Given the description of an element on the screen output the (x, y) to click on. 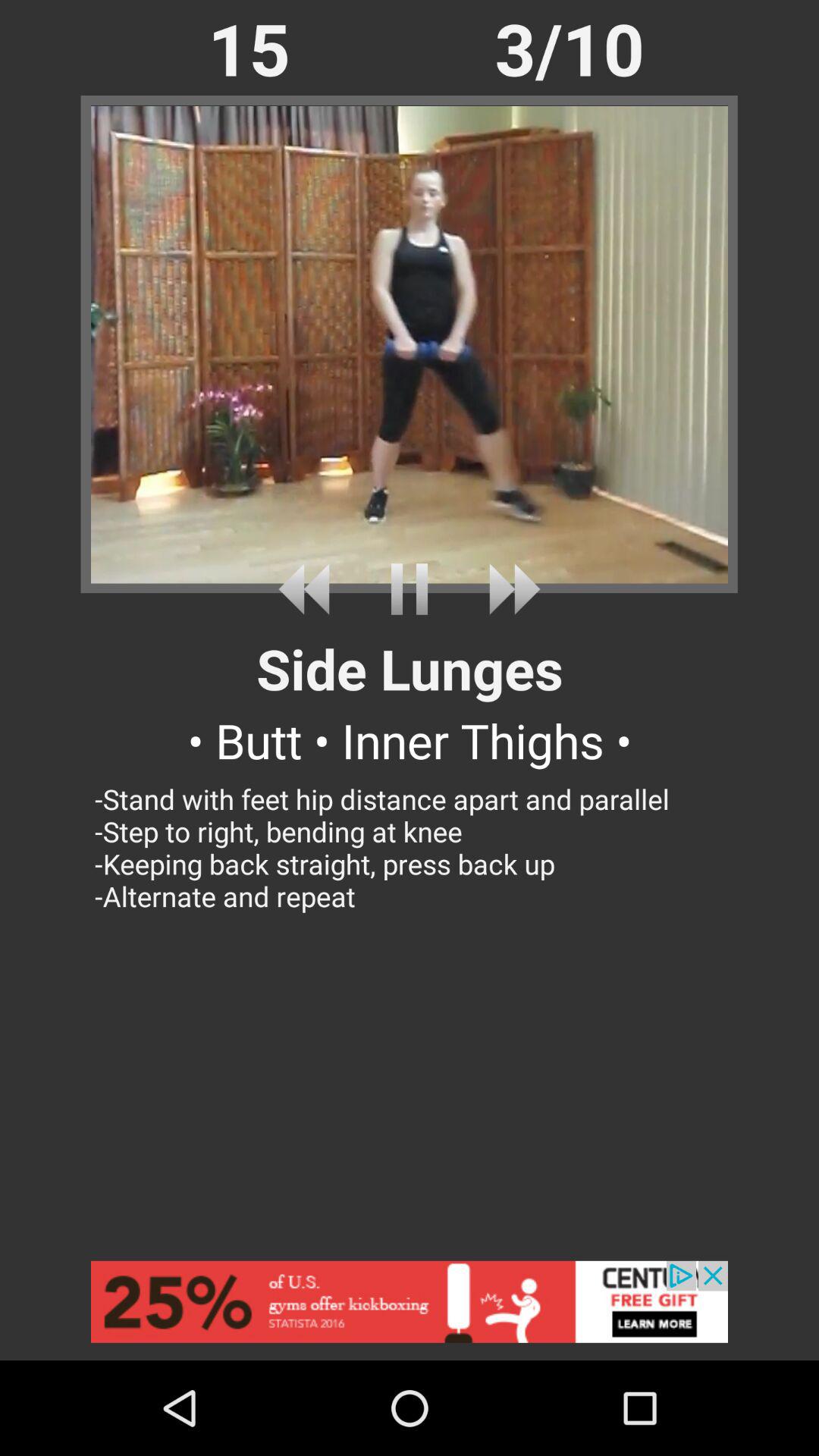
pause video (409, 589)
